Given the description of an element on the screen output the (x, y) to click on. 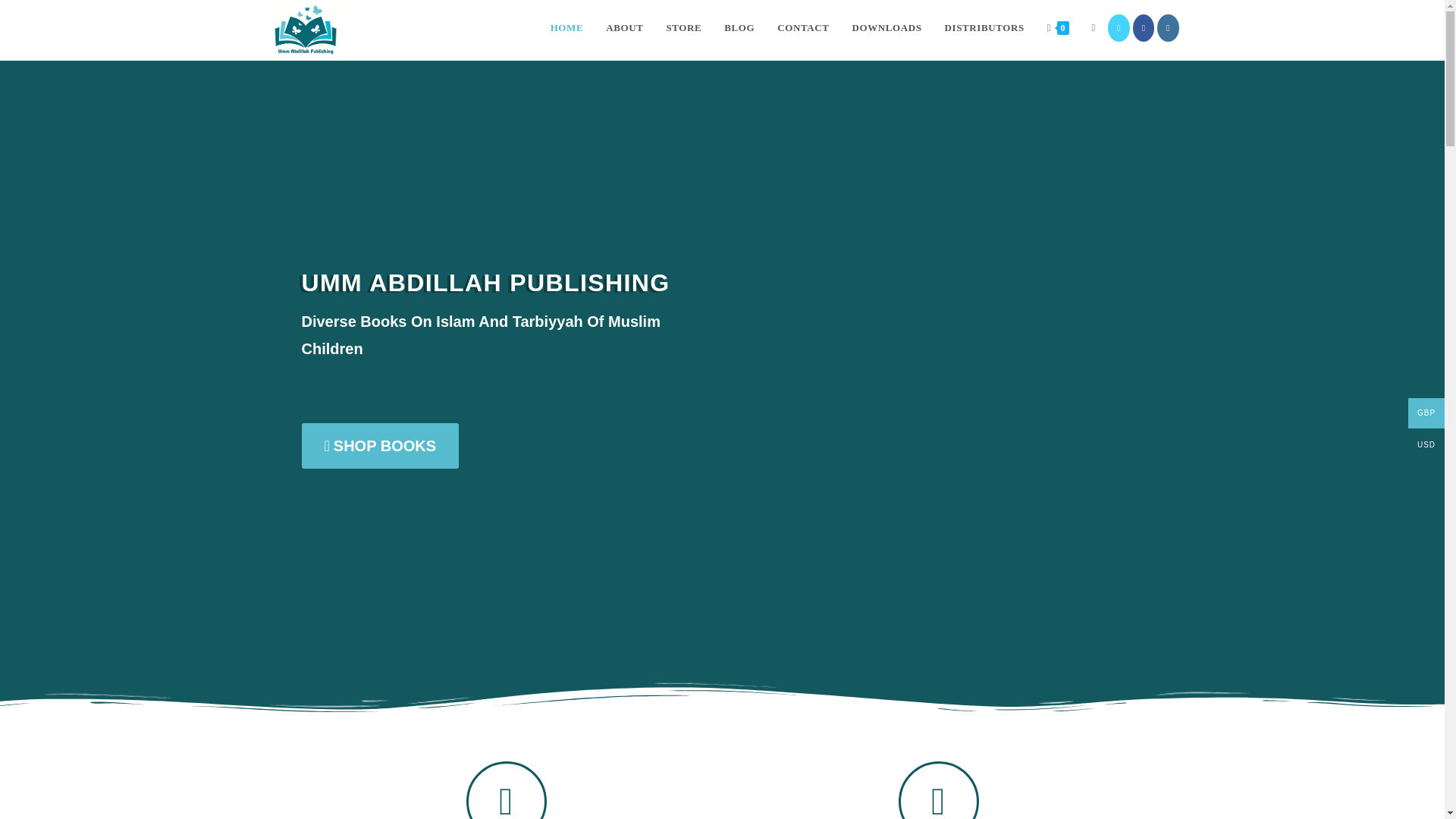
ABOUT (623, 28)
STORE (683, 28)
BLOG (739, 28)
DISTRIBUTORS (984, 28)
CONTACT (802, 28)
SHOP BOOKS (380, 447)
HOME (566, 28)
DOWNLOADS (887, 28)
